Given the description of an element on the screen output the (x, y) to click on. 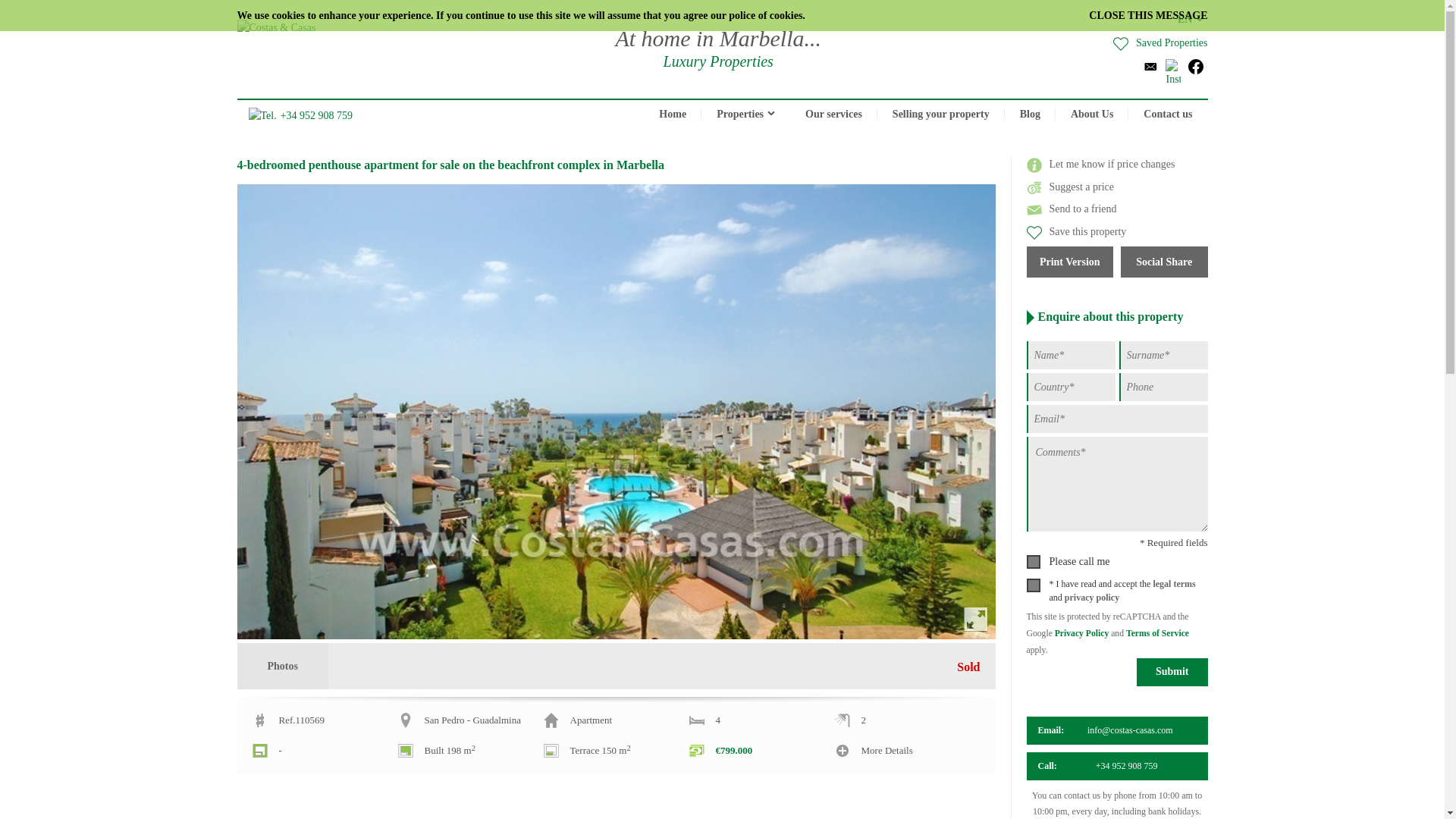
Submit (1172, 672)
Contact us (1167, 114)
Social Share (1164, 261)
Let me know if price changes (1100, 163)
Suggest a price (1070, 186)
Our services (833, 114)
Blog (1029, 114)
Print Version (1069, 261)
Home (672, 114)
About Us (1091, 114)
Selling your property (940, 114)
Save this property (1076, 231)
Send to a friend (1071, 208)
110569 (324, 720)
